Given the description of an element on the screen output the (x, y) to click on. 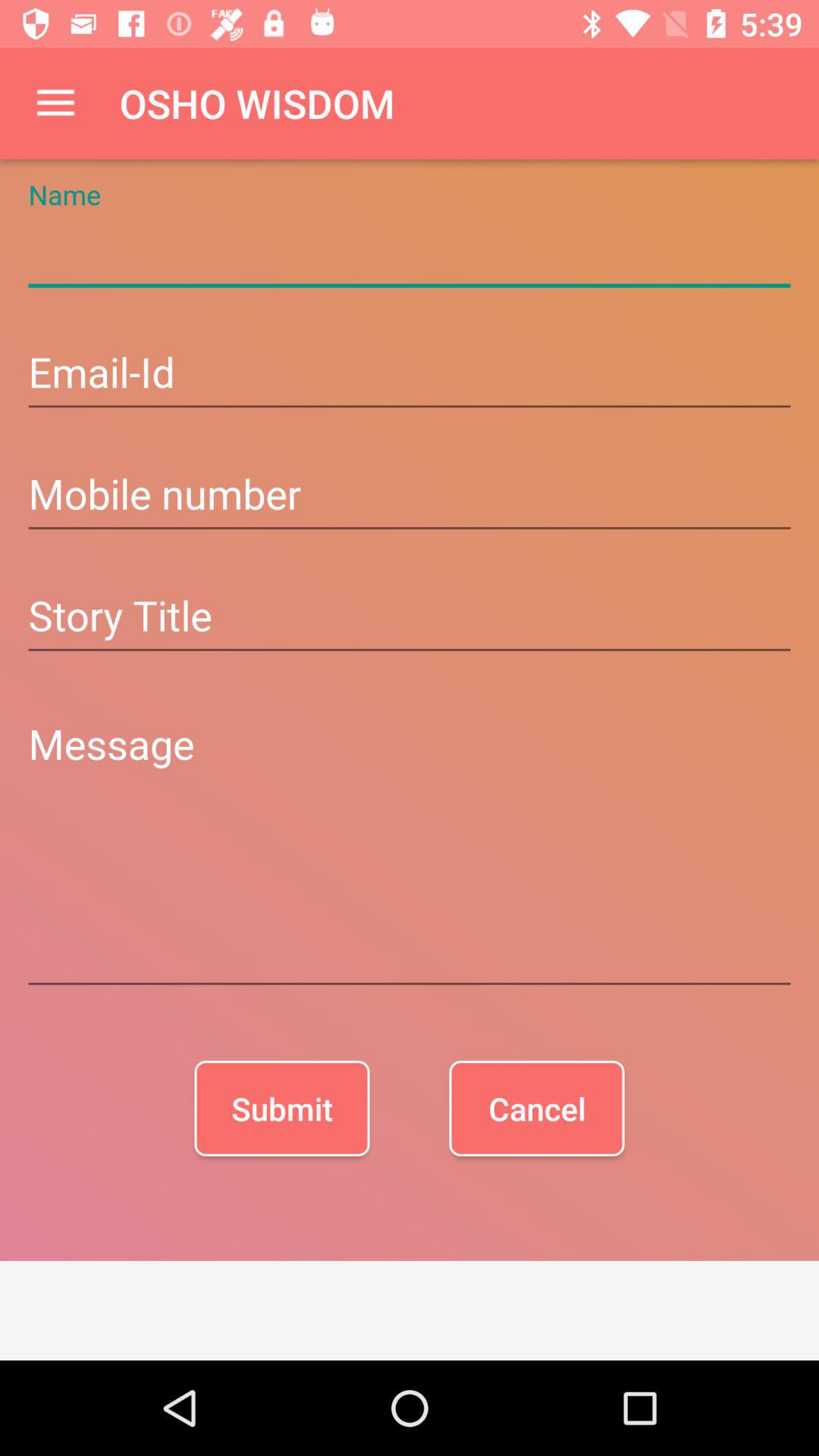
space to enter the email id (409, 374)
